Given the description of an element on the screen output the (x, y) to click on. 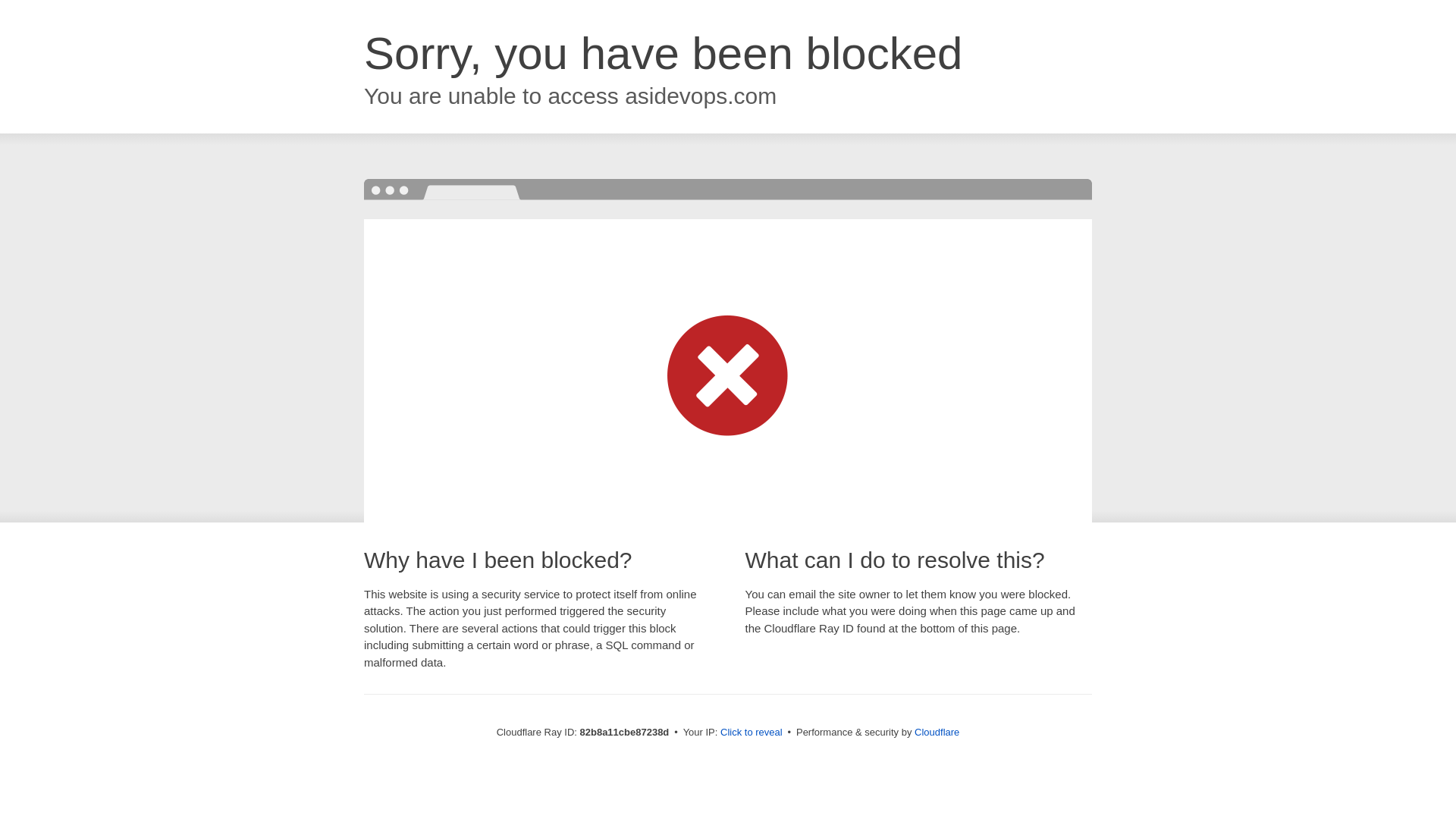
Cloudflare Element type: text (936, 731)
Click to reveal Element type: text (751, 732)
